Given the description of an element on the screen output the (x, y) to click on. 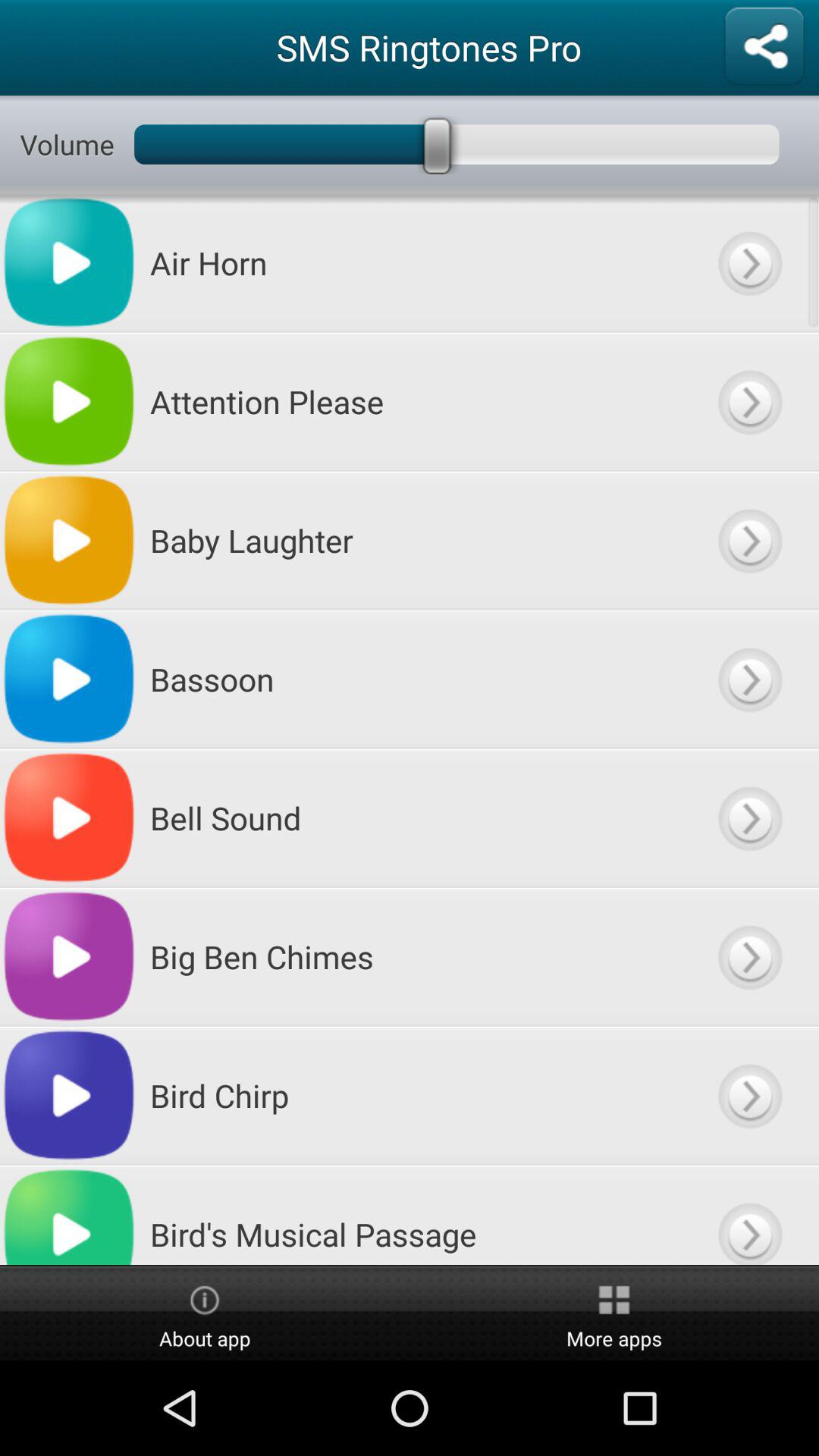
selects item (749, 818)
